Given the description of an element on the screen output the (x, y) to click on. 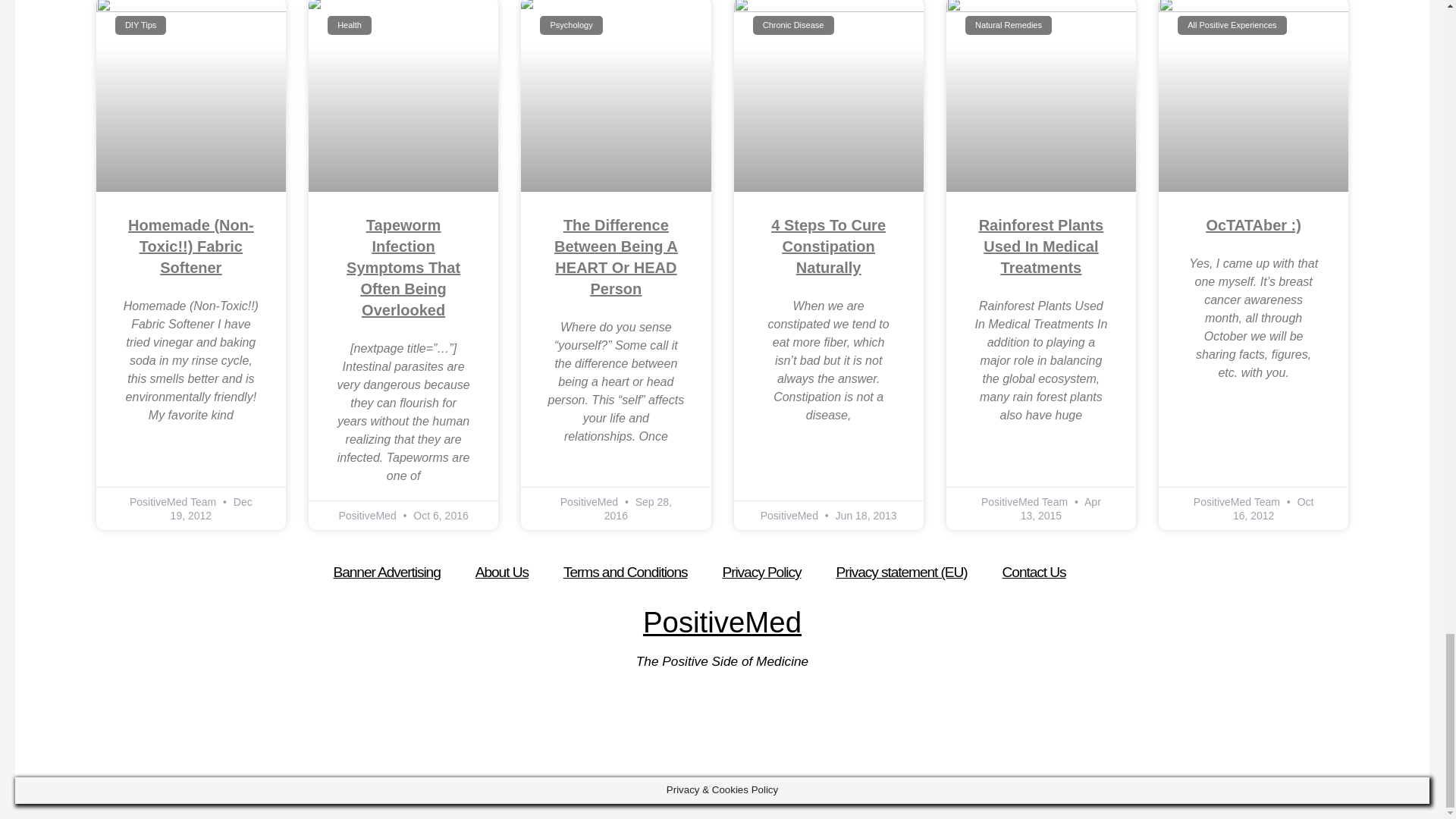
The Difference Between Being A HEART Or HEAD Person (616, 257)
Contact Us (1033, 572)
Tapeworm Infection Symptoms That Often Being Overlooked (403, 267)
4 Steps To Cure Constipation Naturally (828, 246)
Privacy Policy (761, 572)
Rainforest Plants Used In Medical Treatments (1040, 246)
Terms and Conditions (625, 572)
About Us (501, 572)
Banner Advertising (386, 572)
